Given the description of an element on the screen output the (x, y) to click on. 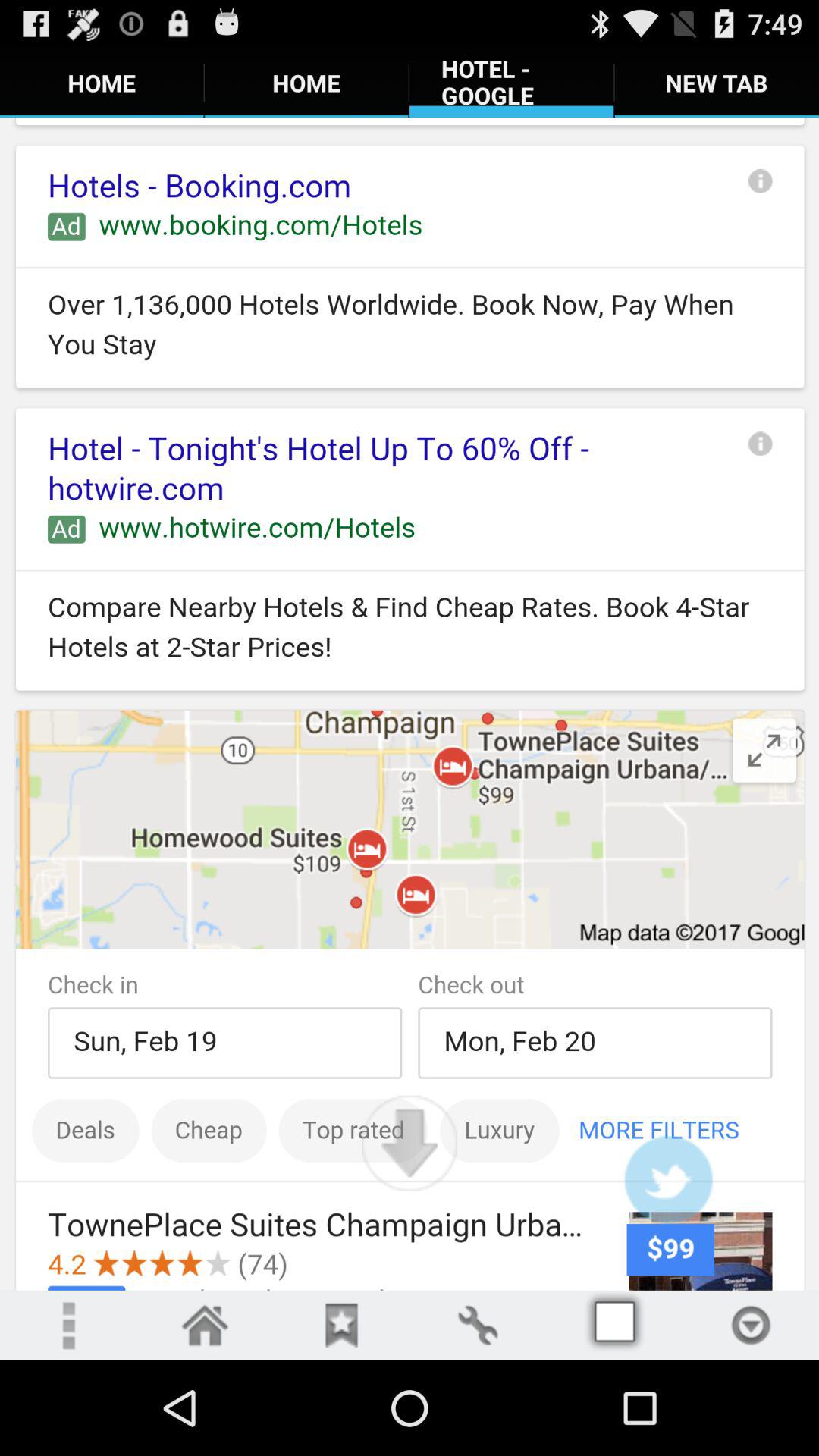
scroll down page (409, 1142)
